Given the description of an element on the screen output the (x, y) to click on. 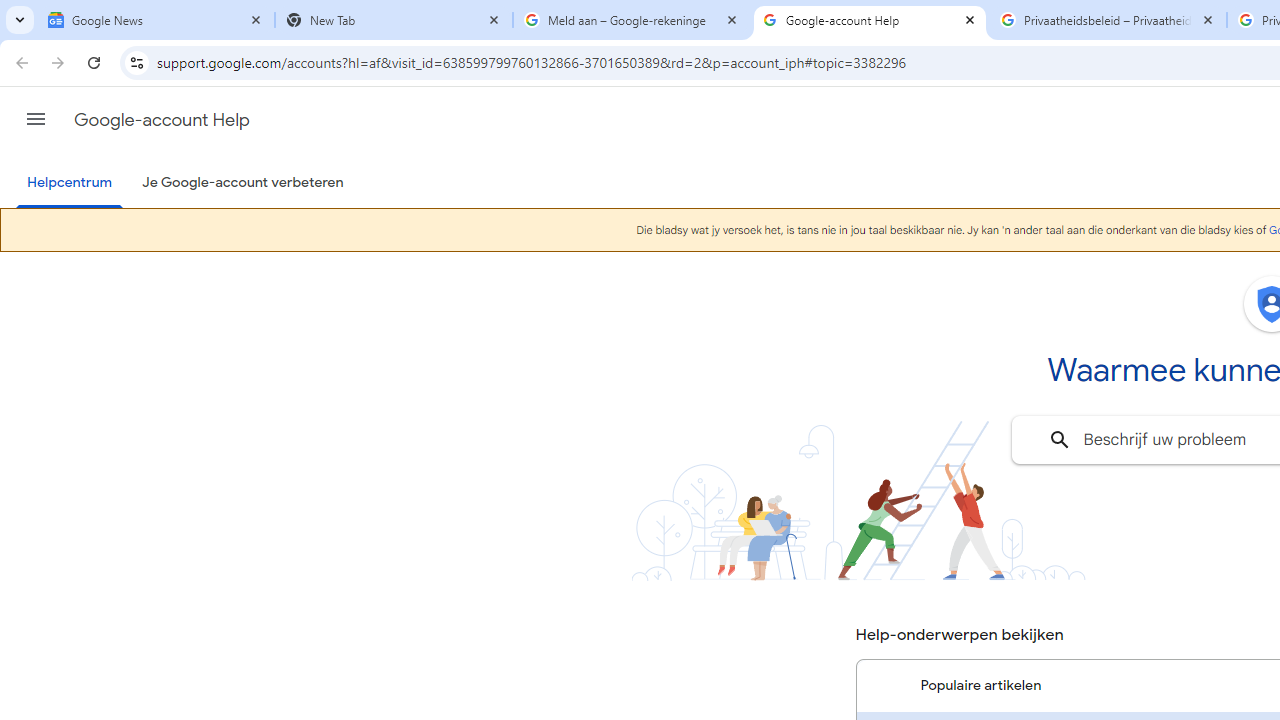
Google-account Help (870, 20)
Hoofdmenu (35, 119)
Helpcentrum (69, 183)
Google News (156, 20)
Zoeken (1059, 439)
